Given the description of an element on the screen output the (x, y) to click on. 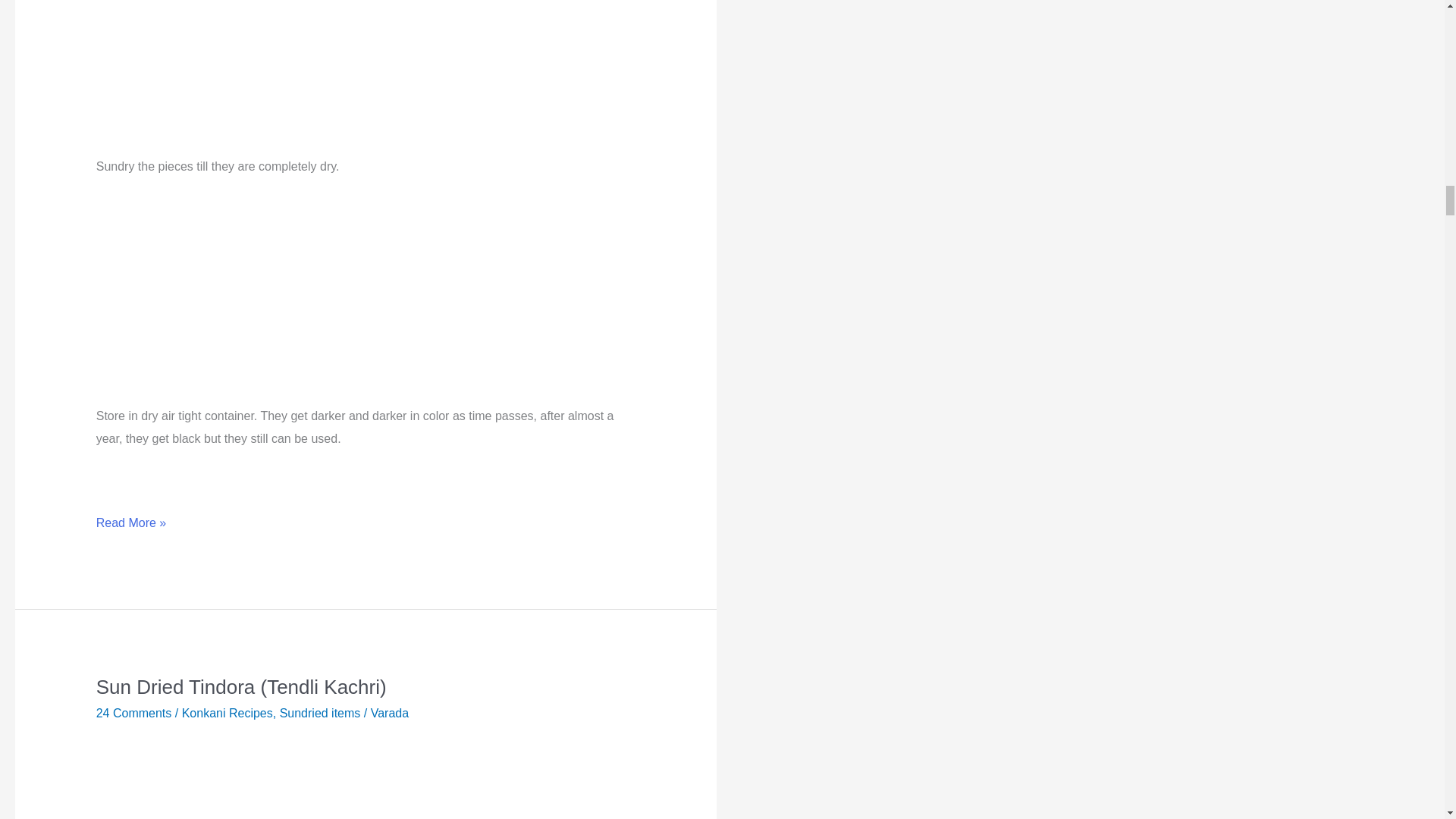
View all posts by Varada (390, 712)
tendli kachri (365, 777)
